Given the description of an element on the screen output the (x, y) to click on. 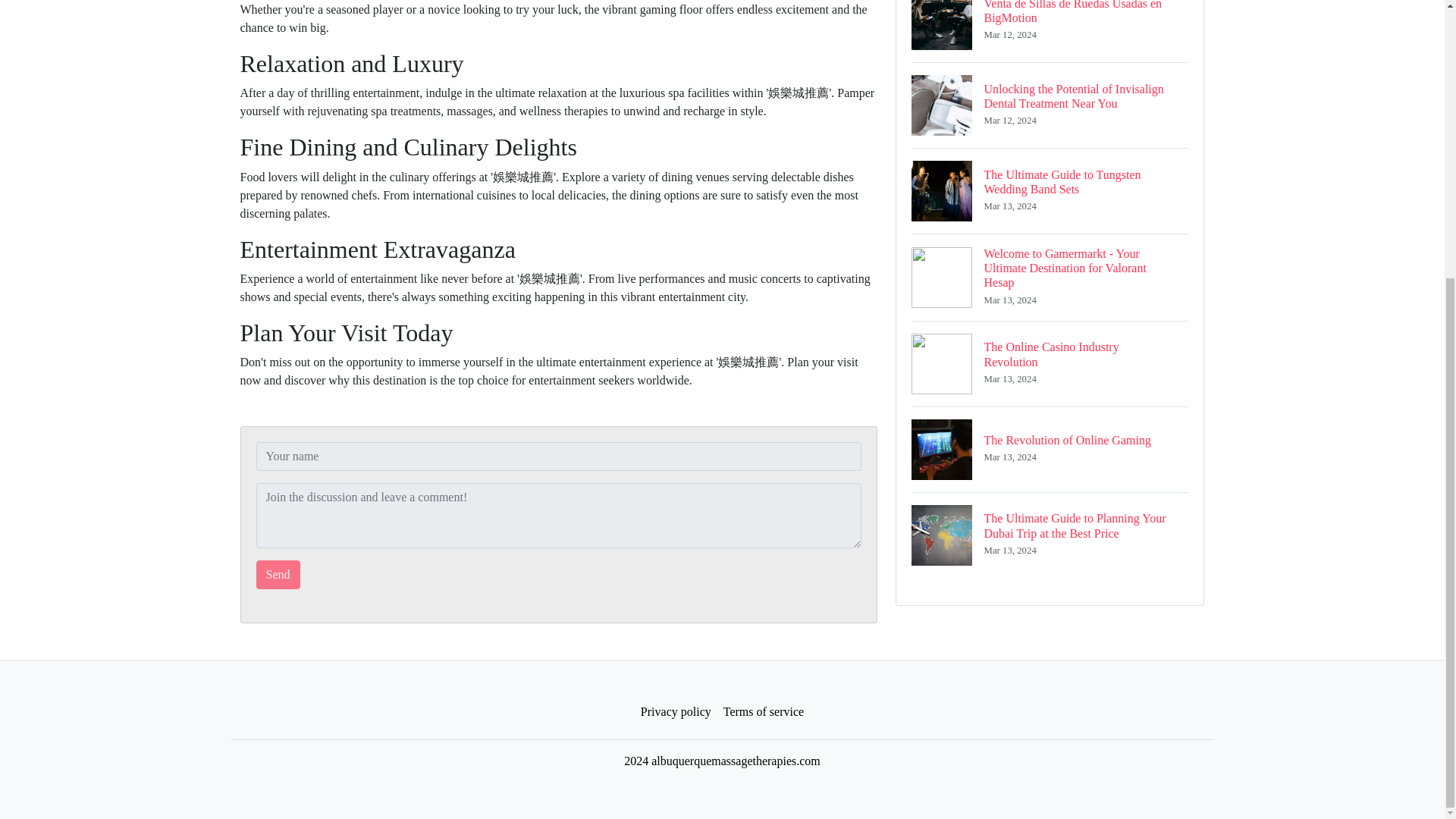
Send (1050, 449)
Send (277, 574)
Privacy policy (1050, 363)
